Given the description of an element on the screen output the (x, y) to click on. 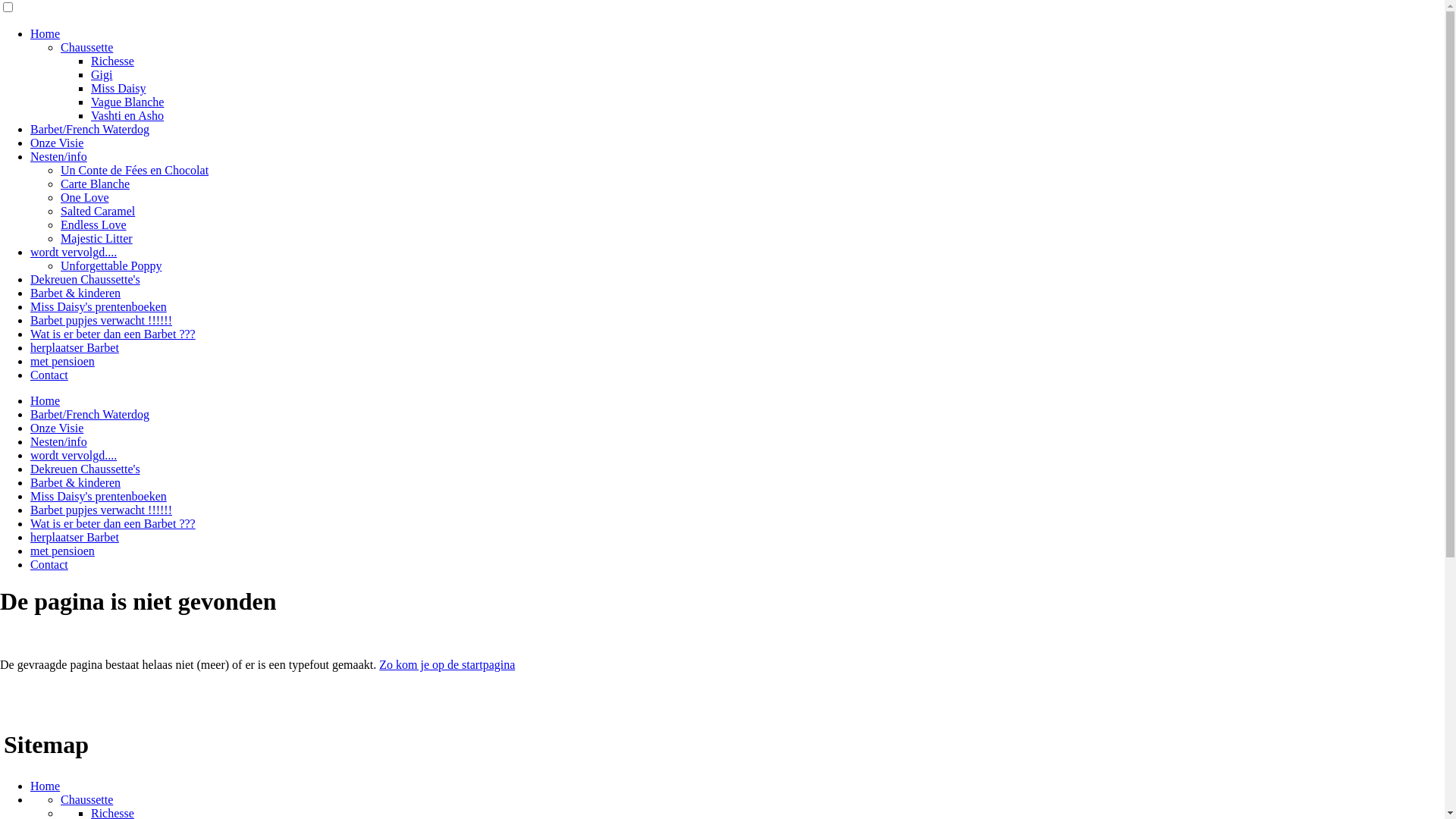
Gigi Element type: text (101, 74)
wordt vervolgd.... Element type: text (73, 454)
herplaatser Barbet Element type: text (74, 347)
met pensioen Element type: text (62, 550)
Dekreuen Chaussette's Element type: text (85, 468)
Barbet pupjes verwacht !!!!!! Element type: text (101, 319)
Miss Daisy's prentenboeken Element type: text (98, 306)
Home Element type: text (44, 400)
Miss Daisy Element type: text (118, 87)
Carte Blanche Element type: text (94, 183)
Wat is er beter dan een Barbet ??? Element type: text (112, 333)
Barbet & kinderen Element type: text (75, 482)
Unforgettable Poppy Element type: text (110, 265)
Home Element type: text (44, 785)
Barbet pupjes verwacht !!!!!! Element type: text (101, 509)
Chaussette Element type: text (86, 46)
Nesten/info Element type: text (58, 441)
Nesten/info Element type: text (58, 156)
Vague Blanche Element type: text (127, 101)
Home Element type: text (44, 33)
Contact Element type: text (49, 564)
Barbet/French Waterdog Element type: text (89, 413)
Onze Visie Element type: text (56, 427)
herplaatser Barbet Element type: text (74, 536)
Chaussette Element type: text (86, 799)
Dekreuen Chaussette's Element type: text (85, 279)
wordt vervolgd.... Element type: text (73, 251)
Miss Daisy's prentenboeken Element type: text (98, 495)
Onze Visie Element type: text (56, 142)
Richesse Element type: text (112, 60)
Endless Love Element type: text (93, 224)
Wat is er beter dan een Barbet ??? Element type: text (112, 523)
Barbet/French Waterdog Element type: text (89, 128)
met pensioen Element type: text (62, 360)
Salted Caramel Element type: text (97, 210)
One Love Element type: text (84, 197)
Majestic Litter Element type: text (96, 238)
Barbet & kinderen Element type: text (75, 292)
Contact Element type: text (49, 374)
Zo kom je op de startpagina Element type: text (446, 664)
Vashti en Asho Element type: text (127, 115)
